Given the description of an element on the screen output the (x, y) to click on. 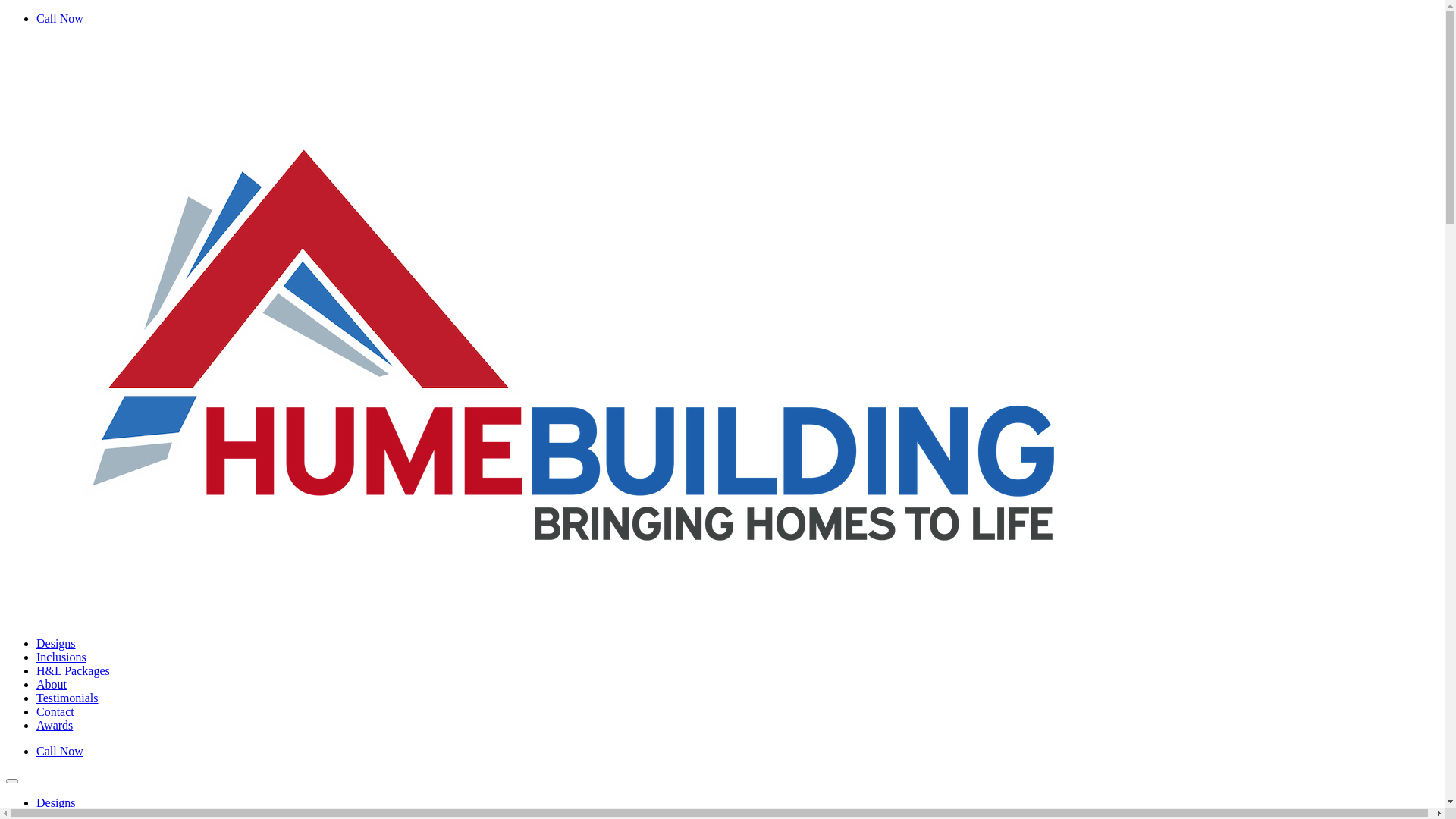
Designs Element type: text (55, 643)
Awards Element type: text (54, 724)
Contact Element type: text (55, 711)
Inclusions Element type: text (61, 656)
Call Now Element type: text (59, 18)
About Element type: text (51, 683)
Designs Element type: text (55, 802)
H&L Packages Element type: text (72, 670)
Testimonials Element type: text (67, 697)
Call Now Element type: text (59, 750)
